Given the description of an element on the screen output the (x, y) to click on. 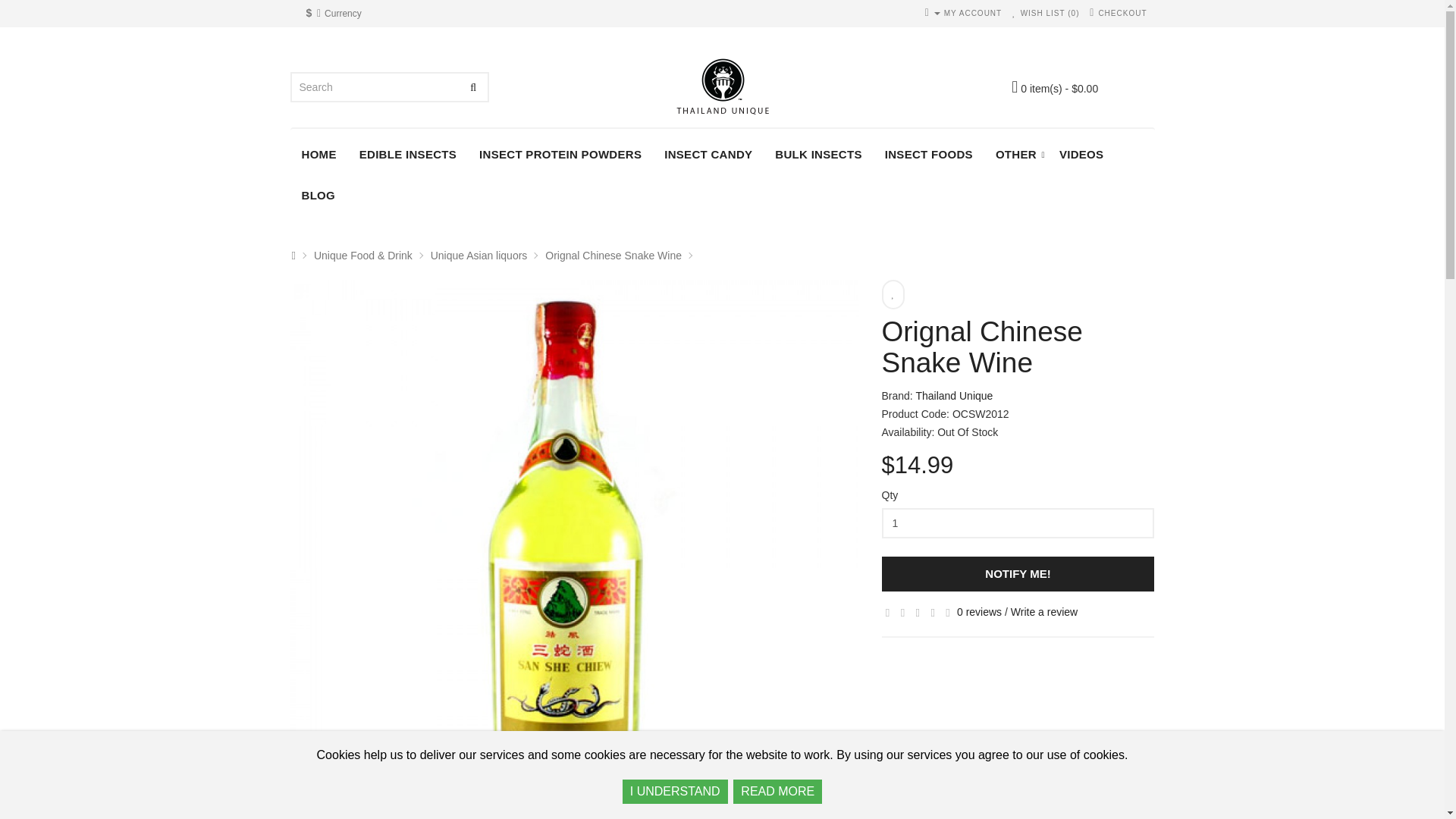
CHECKOUT (1118, 13)
EDIBLE INSECTS (407, 154)
Unique Asian liquors (478, 255)
My Account (962, 13)
BLOG (317, 195)
Home (318, 154)
Orignal Chinese Snake Wine (612, 255)
1 (1017, 522)
INSECT FOODS (928, 154)
